Given the description of an element on the screen output the (x, y) to click on. 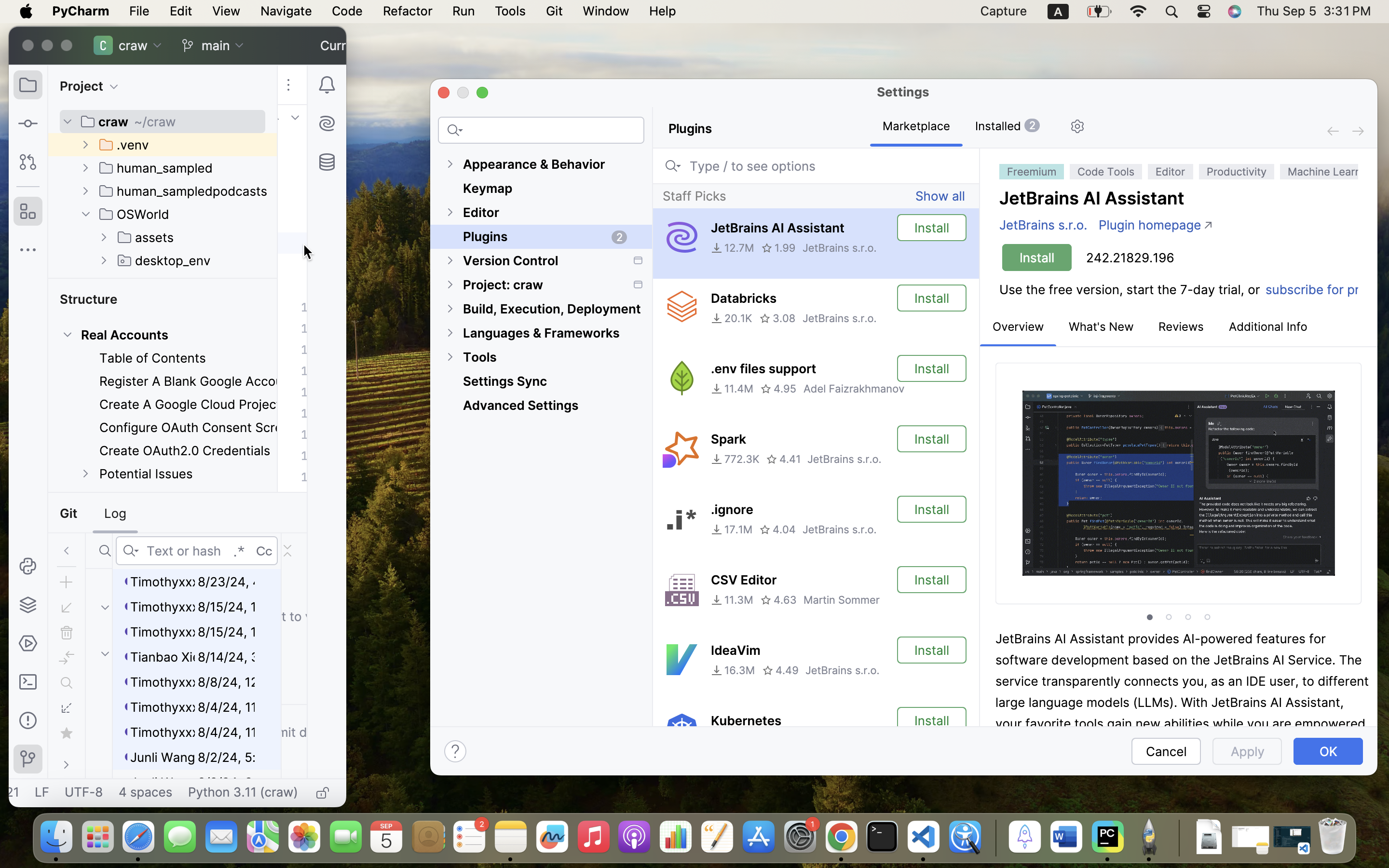
JetBrains s.r.o. Element type: AXStaticText (842, 670)
0 Element type: AXGroup (1178, 170)
0.4285714328289032 Element type: AXDockItem (993, 837)
4.49 Element type: AXStaticText (780, 670)
1 Element type: AXRadioButton (1018, 327)
